Given the description of an element on the screen output the (x, y) to click on. 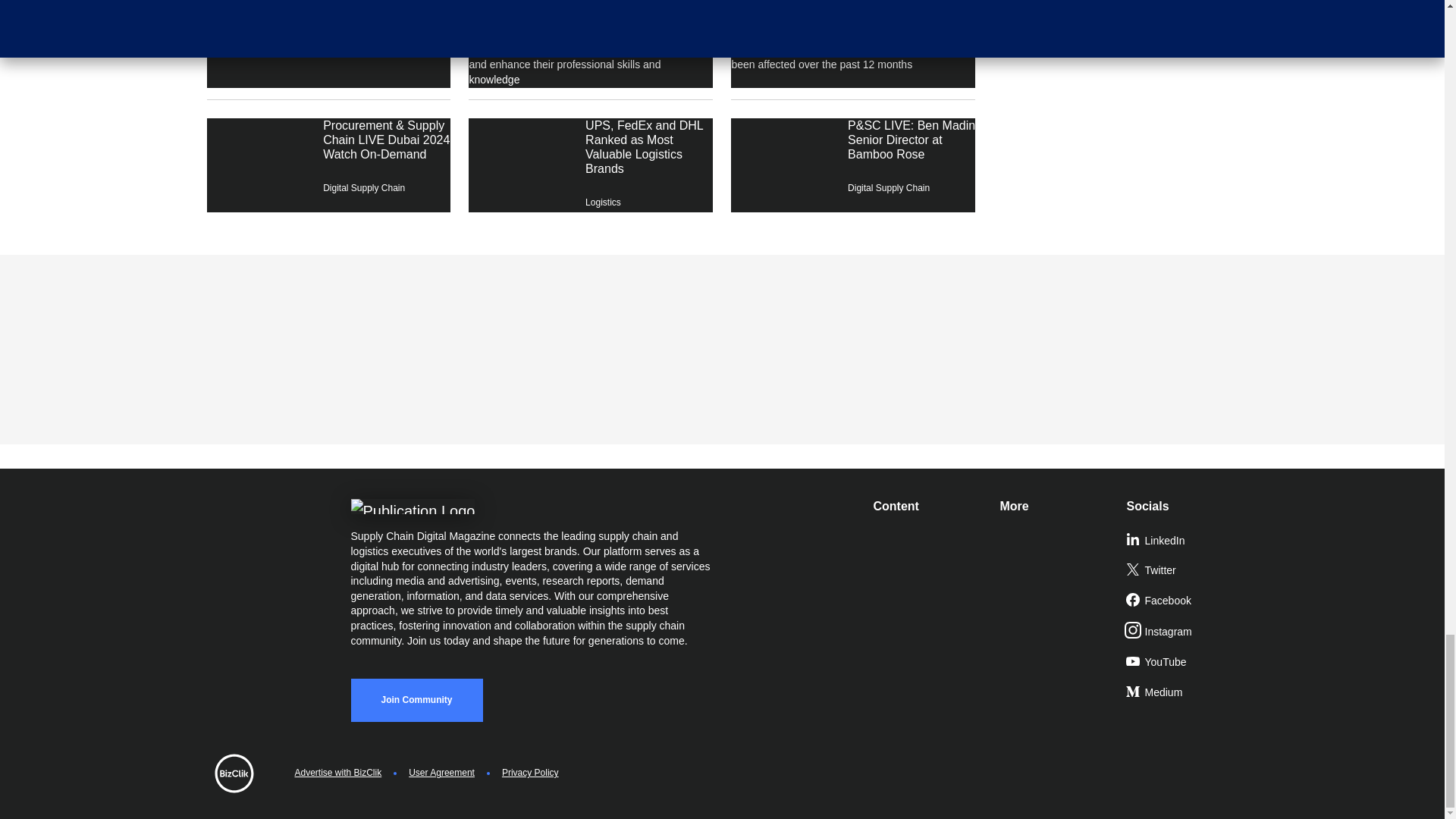
Twitter (1182, 571)
Facebook (1182, 601)
Join Community (415, 699)
LinkedIn (1182, 541)
